Given the description of an element on the screen output the (x, y) to click on. 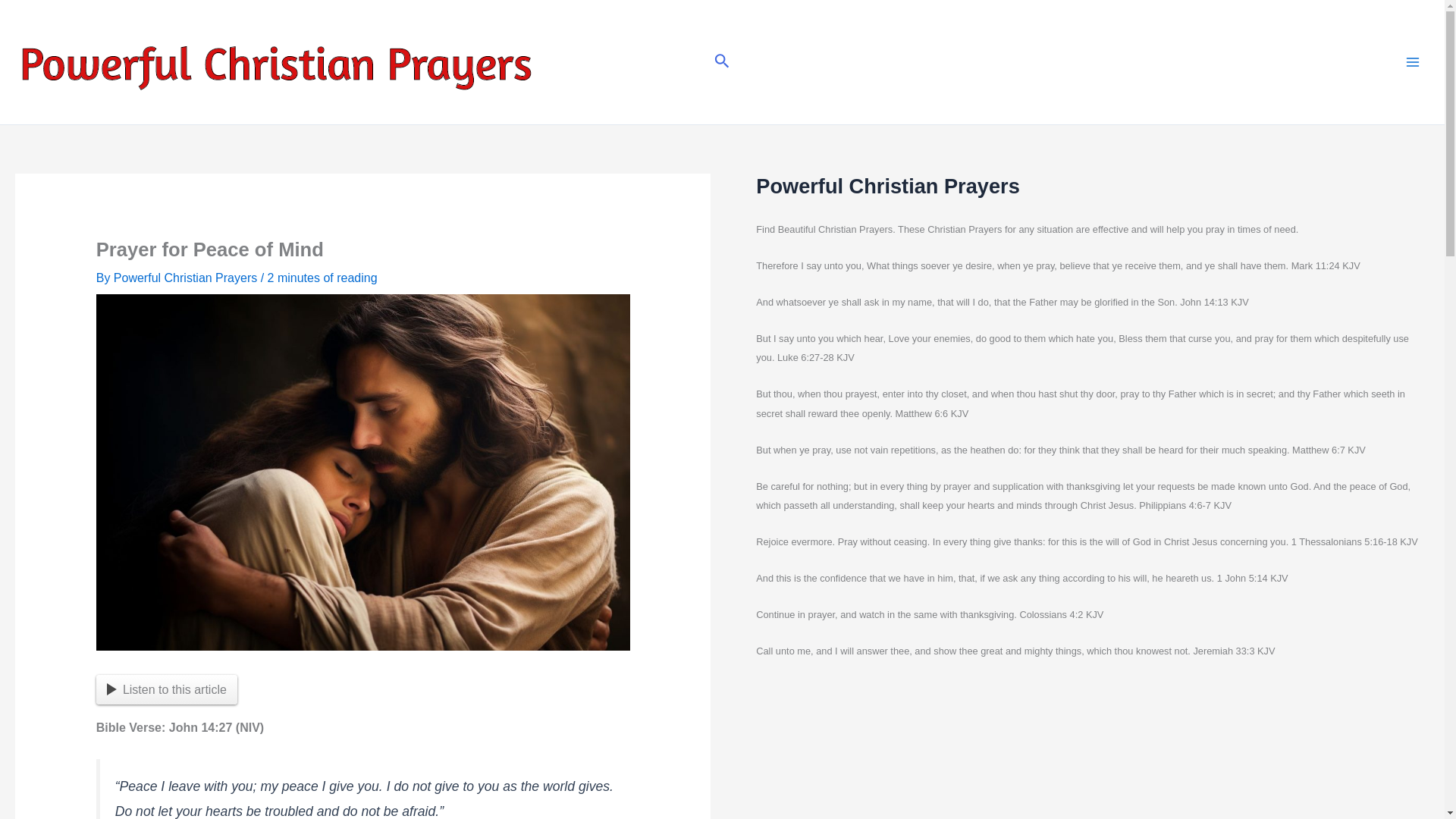
Powerful Christian Prayers (186, 277)
View all posts by Powerful Christian Prayers (186, 277)
